Given the description of an element on the screen output the (x, y) to click on. 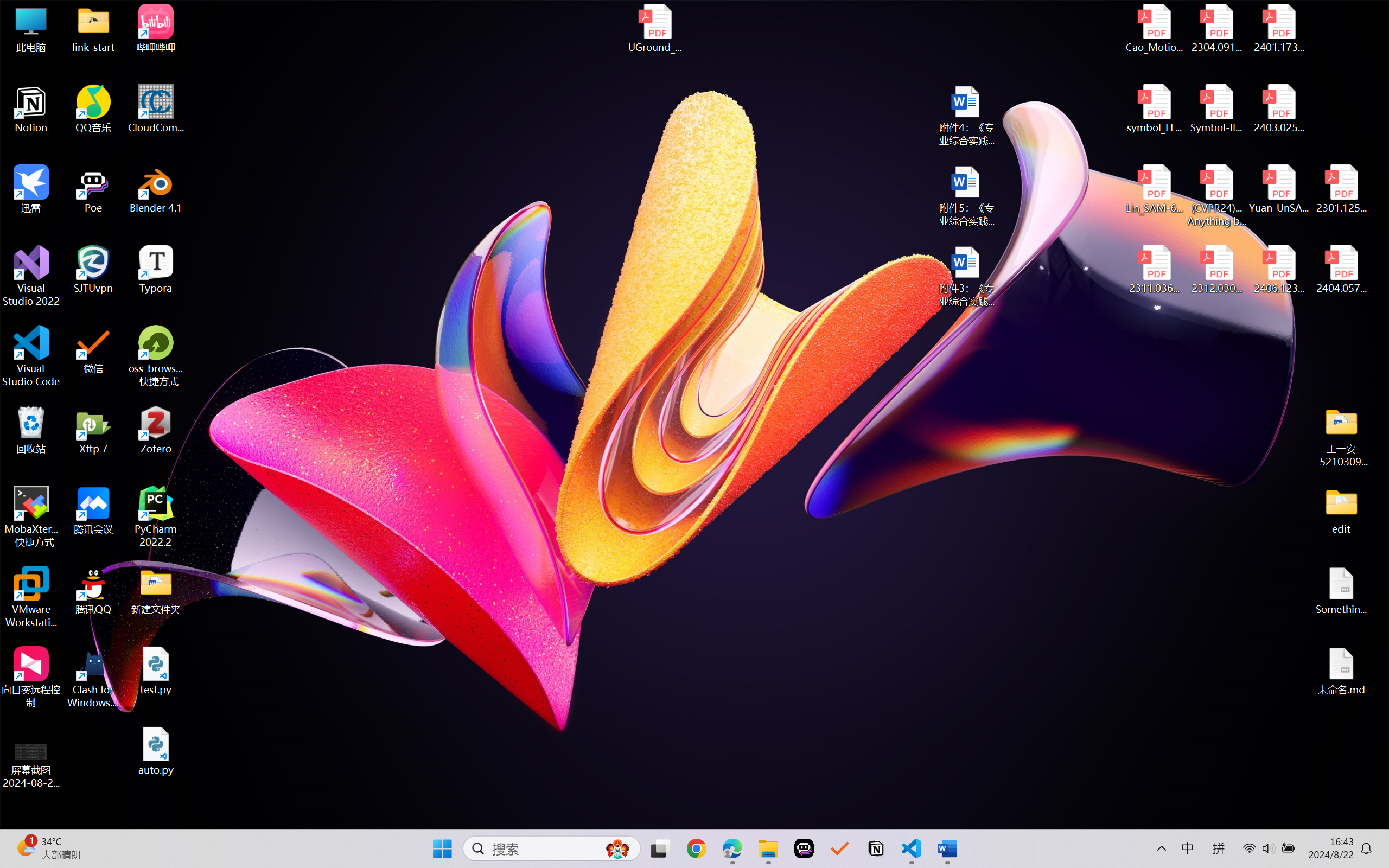
test.py (156, 670)
Blender 4.1 (156, 189)
SJTUvpn (93, 269)
symbol_LLM.pdf (1154, 109)
